Given the description of an element on the screen output the (x, y) to click on. 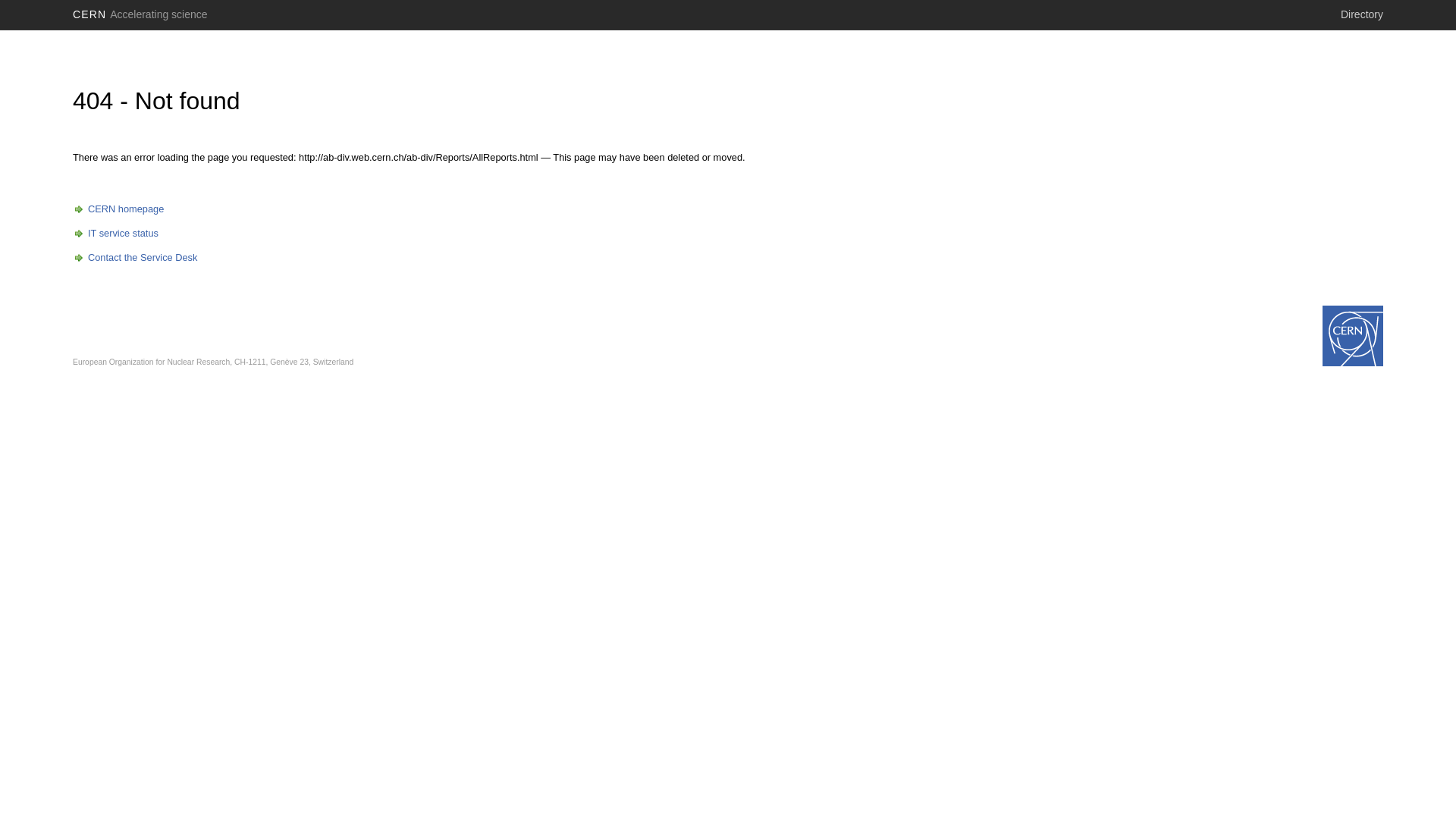
IT service status Element type: text (115, 232)
Contact the Service Desk Element type: text (134, 257)
CERN homepage Element type: text (117, 208)
CERN Accelerating science Element type: text (139, 14)
www.cern.ch Element type: hover (1352, 335)
Directory Element type: text (1361, 14)
